Given the description of an element on the screen output the (x, y) to click on. 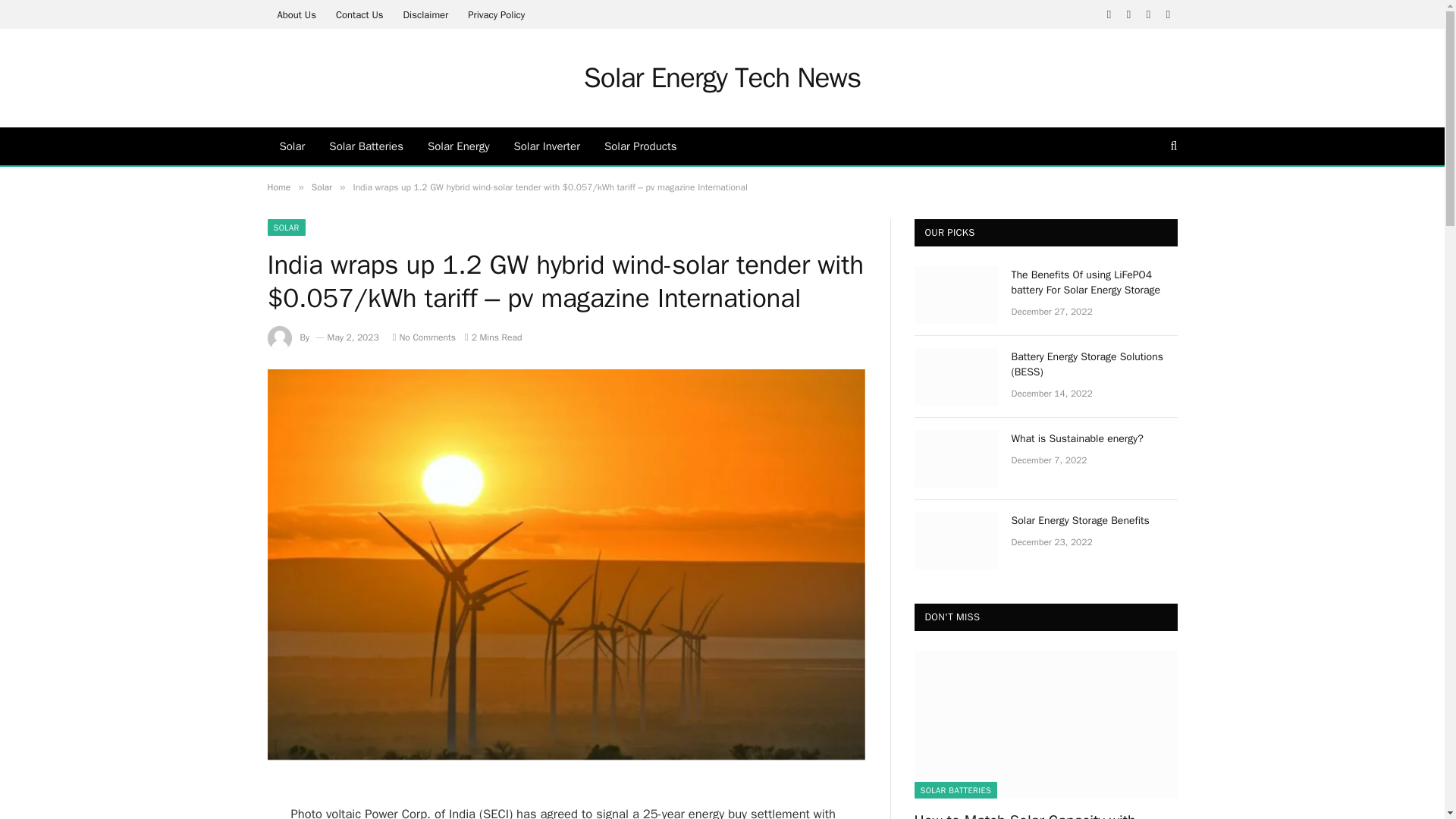
Solar Products (640, 146)
About Us (295, 14)
Solar Energy Tech News (721, 77)
Disclaimer (425, 14)
Solar Energy (458, 146)
Solar Energy Tech News (721, 77)
SOLAR (285, 227)
Home (277, 186)
Contact Us (359, 14)
No Comments (424, 337)
Solar (321, 186)
Solar Inverter (545, 146)
Solar (291, 146)
Privacy Policy (496, 14)
Solar Batteries (365, 146)
